Given the description of an element on the screen output the (x, y) to click on. 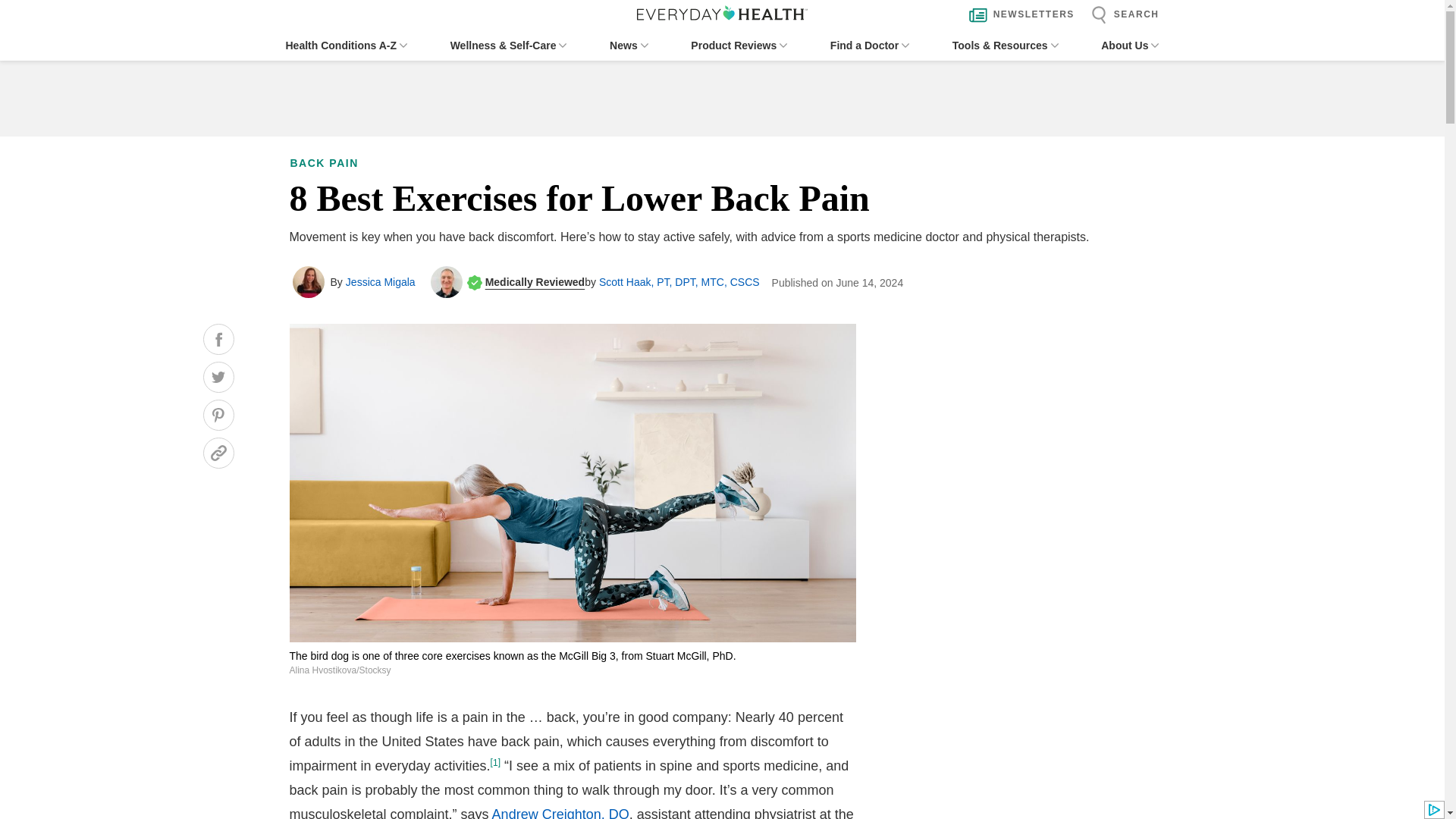
Health Conditions A-Z (345, 45)
Find a Doctor (868, 45)
News (628, 45)
About Us (1129, 45)
SEARCH (1120, 15)
Product Reviews (738, 45)
NEWSLETTERS (1018, 15)
